Given the description of an element on the screen output the (x, y) to click on. 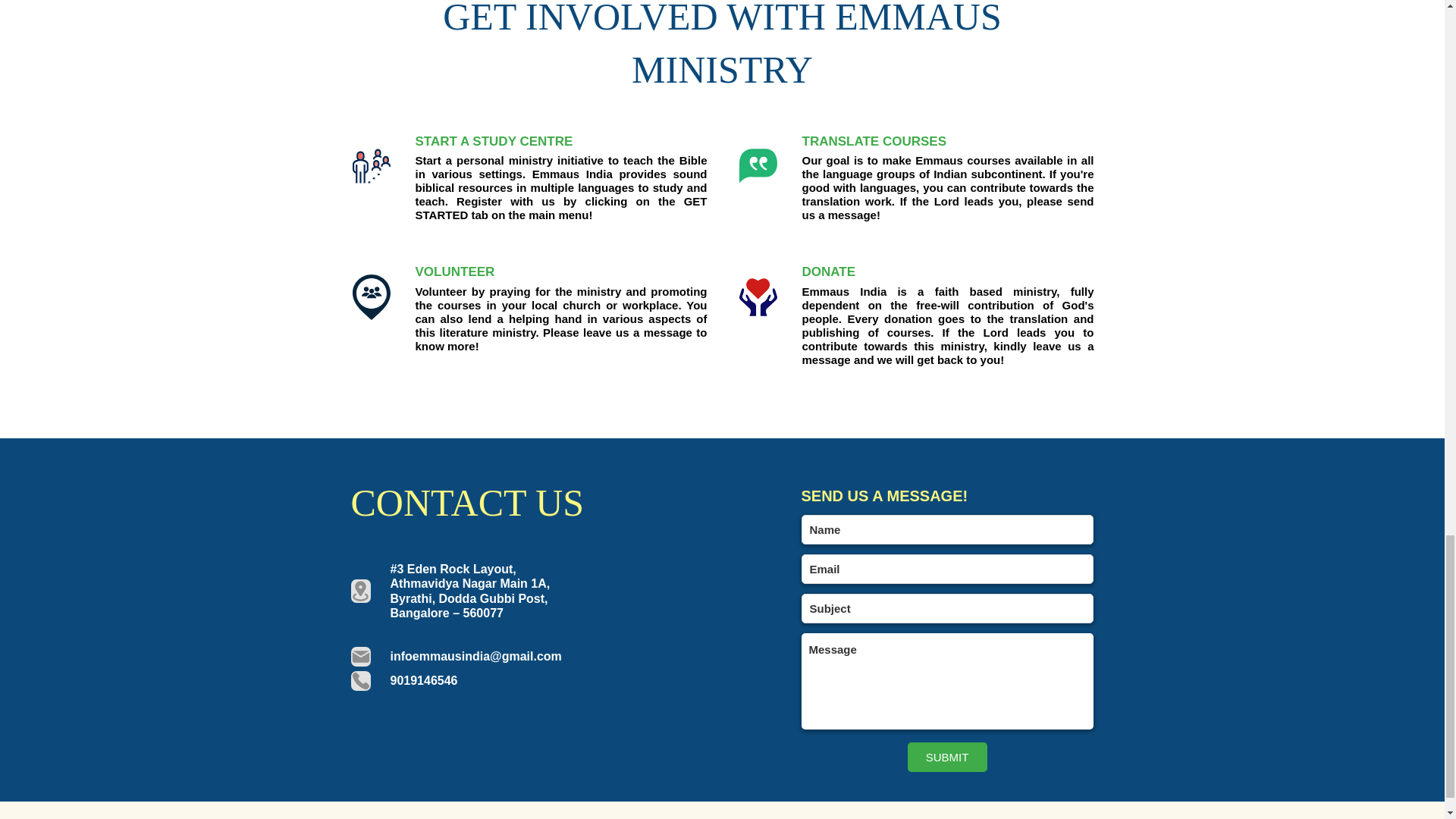
SUBMIT (947, 757)
